Given the description of an element on the screen output the (x, y) to click on. 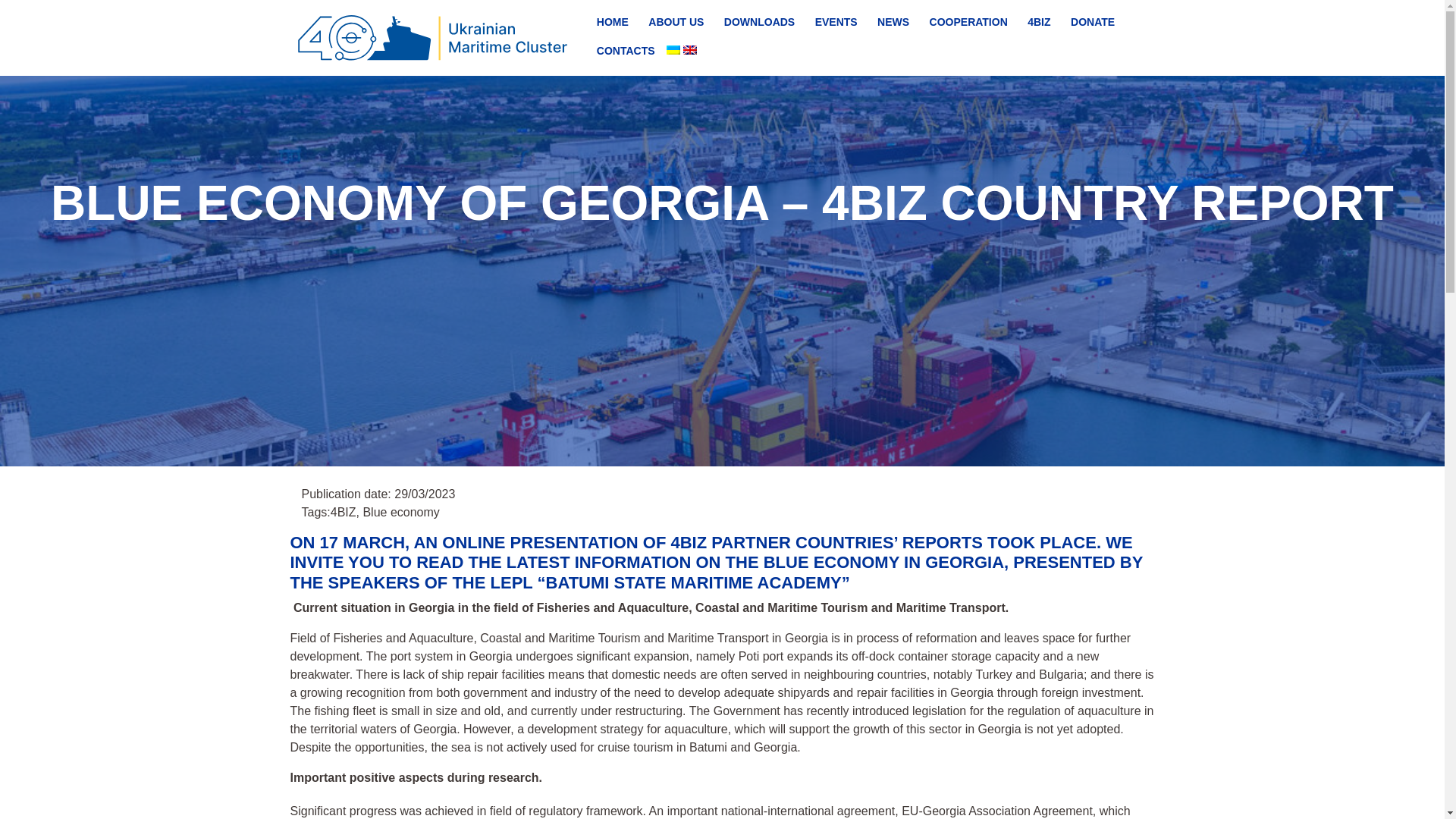
HOME (612, 21)
EVENTS (836, 21)
DOWNLOADS (759, 21)
NEWS (893, 21)
ABOUT US (675, 21)
4BIZ (1038, 21)
CONTACTS (625, 50)
DONATE (1092, 21)
COOPERATION (968, 21)
